Given the description of an element on the screen output the (x, y) to click on. 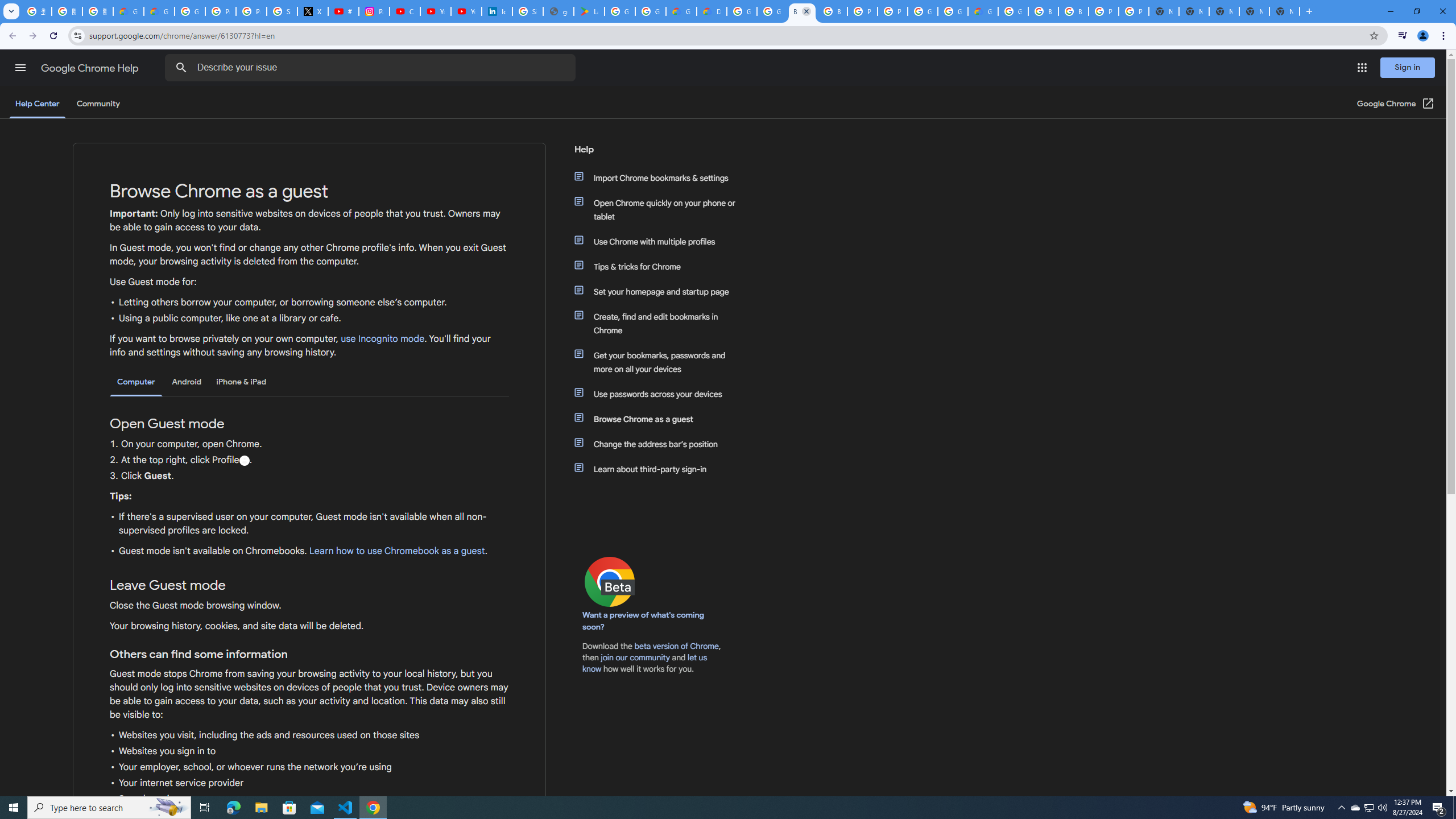
Search Help Center (181, 67)
Google Chrome (Open in a new window) (1395, 103)
use Incognito mode (382, 338)
let us know (644, 663)
google_privacy_policy_en.pdf (558, 11)
Main menu (20, 67)
Community (97, 103)
iPhone & iPad (240, 381)
